Given the description of an element on the screen output the (x, y) to click on. 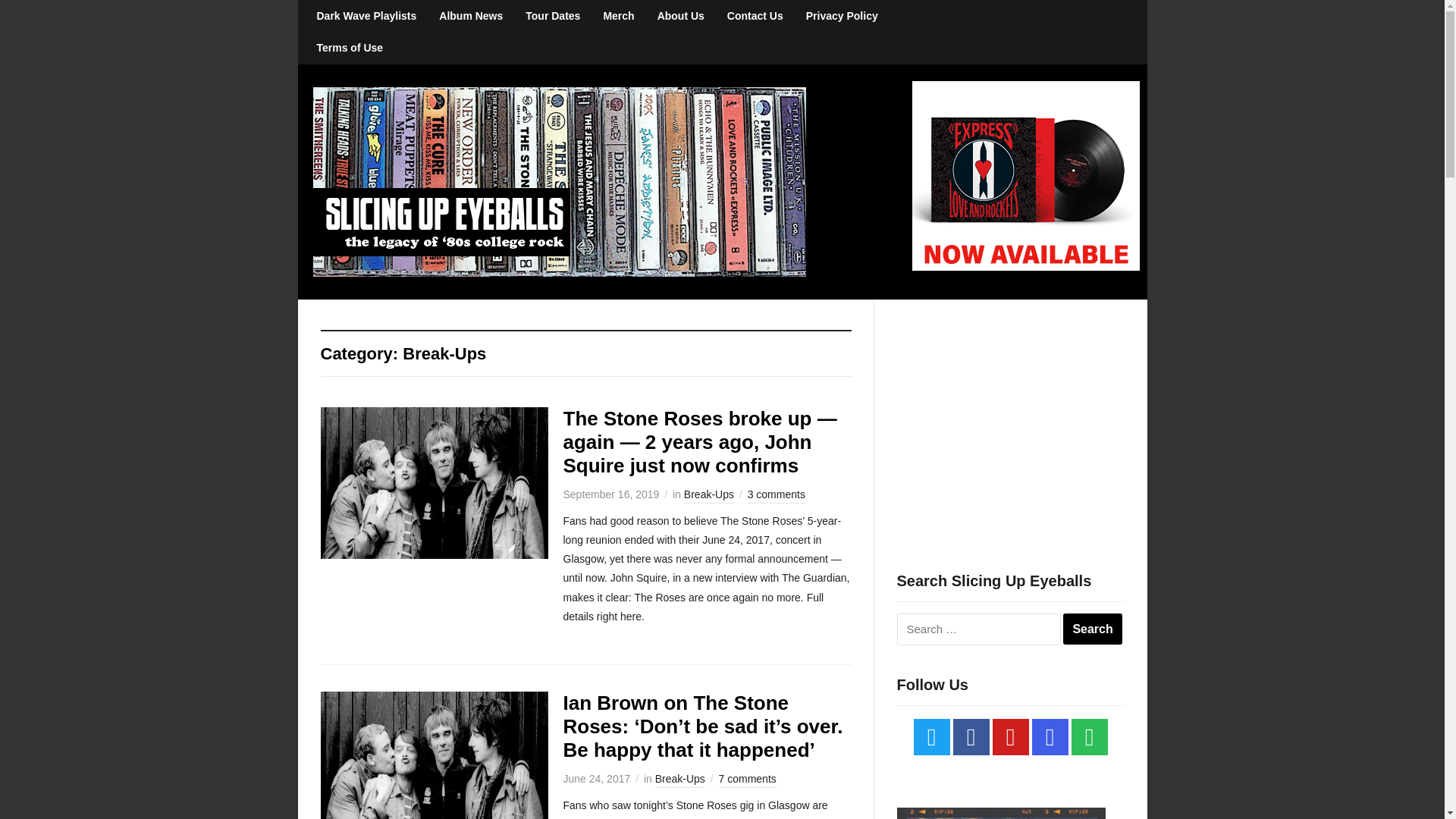
Search (1091, 629)
Dark Wave Playlists (366, 15)
3 comments (776, 495)
'80s College Rock, Alternative Music, Indie (559, 180)
Album News (470, 15)
Privacy Policy (841, 15)
Terms of Use (349, 47)
Break-Ups (679, 780)
7 comments (747, 780)
About Us (681, 15)
Search (1091, 629)
Merch (618, 15)
Contact Us (755, 15)
Tour Dates (552, 15)
Break-Ups (708, 495)
